Given the description of an element on the screen output the (x, y) to click on. 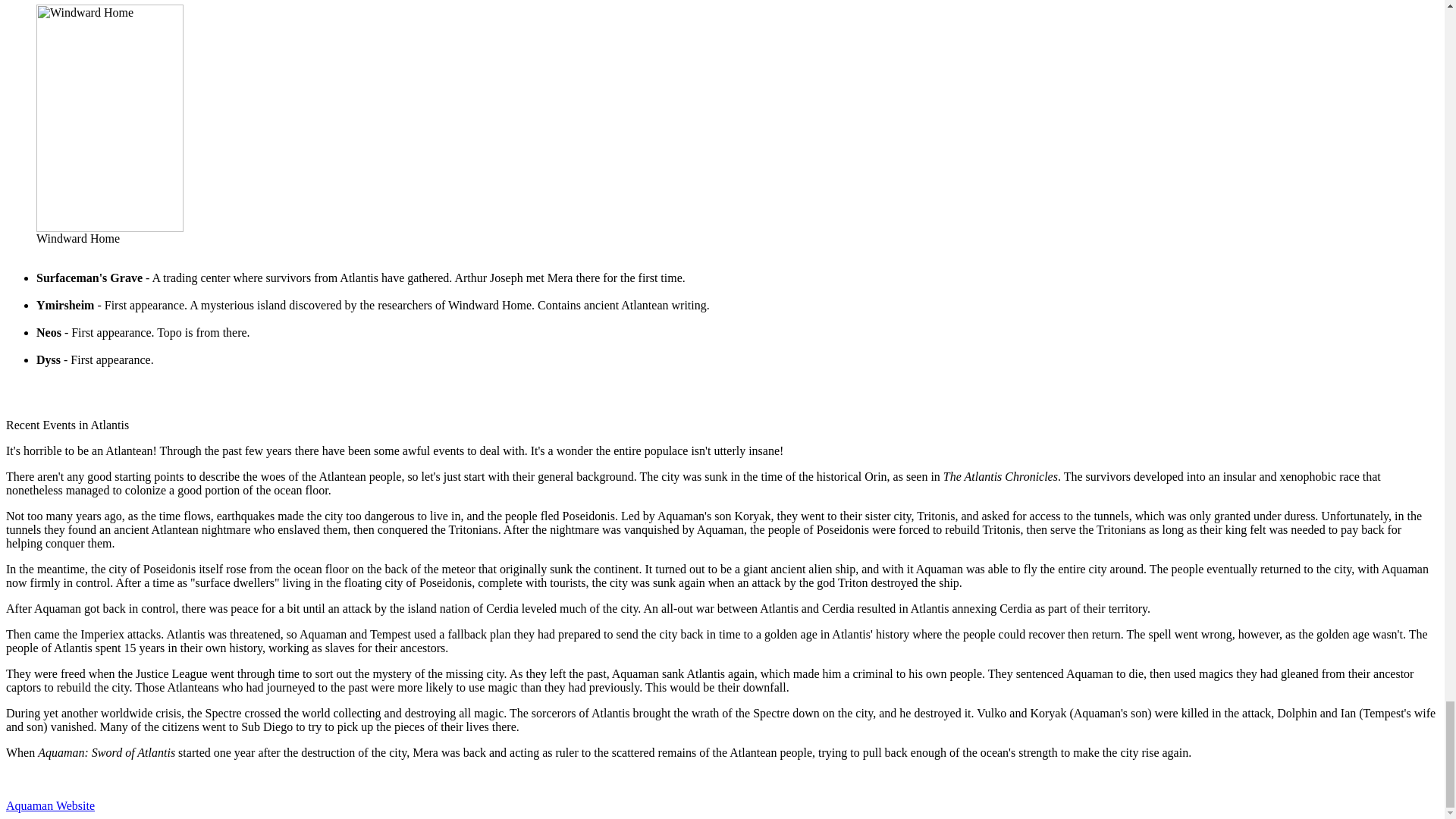
Aquaman Website (49, 805)
